Given the description of an element on the screen output the (x, y) to click on. 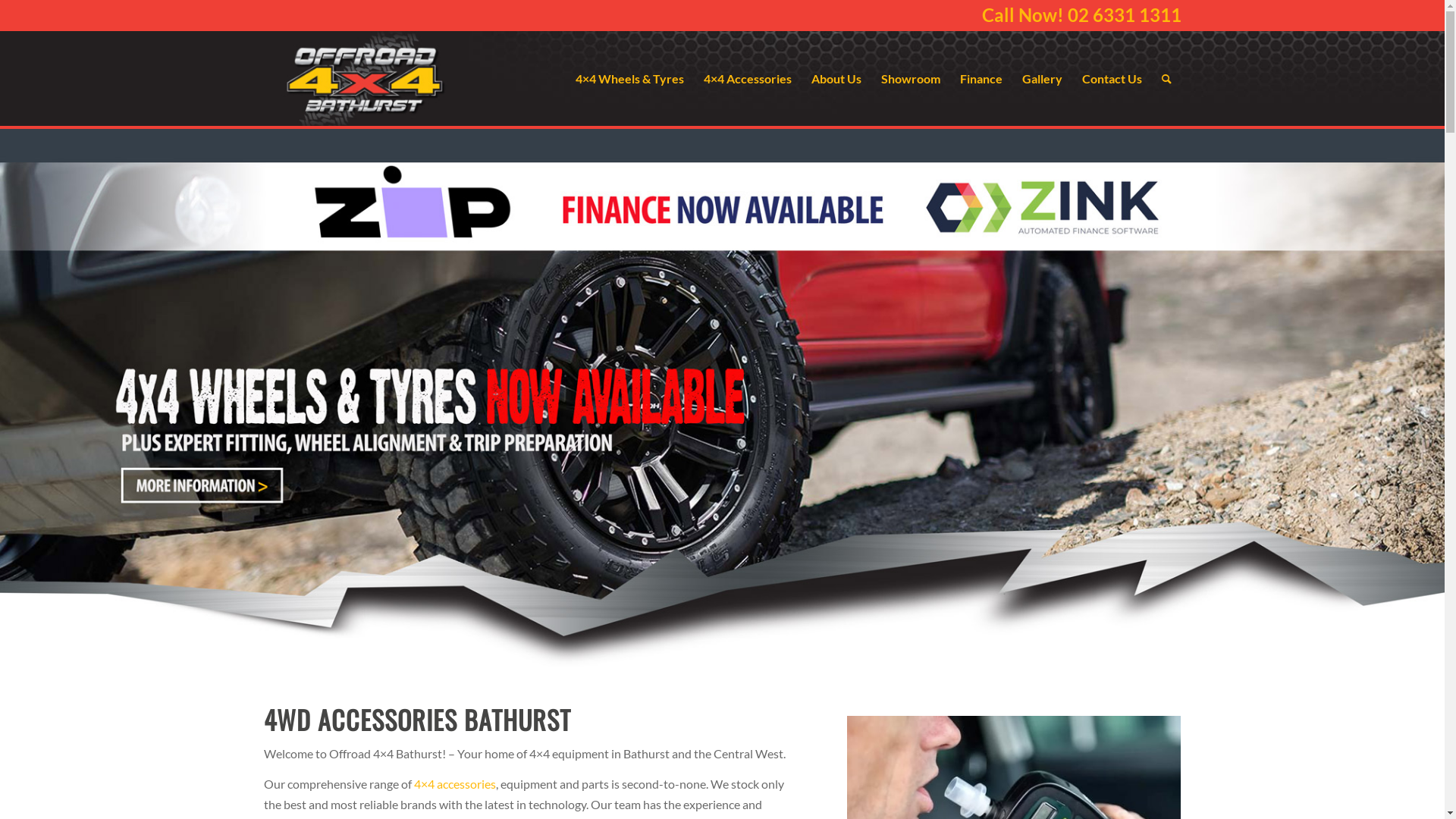
Call Now! 02 6331 1311 Element type: text (1080, 14)
Contact Us Element type: text (1111, 78)
Showroom Element type: text (909, 78)
slider9-22B Element type: hover (722, 392)
About Us Element type: text (835, 78)
Finance Element type: text (980, 78)
Gallery Element type: text (1041, 78)
